Given the description of an element on the screen output the (x, y) to click on. 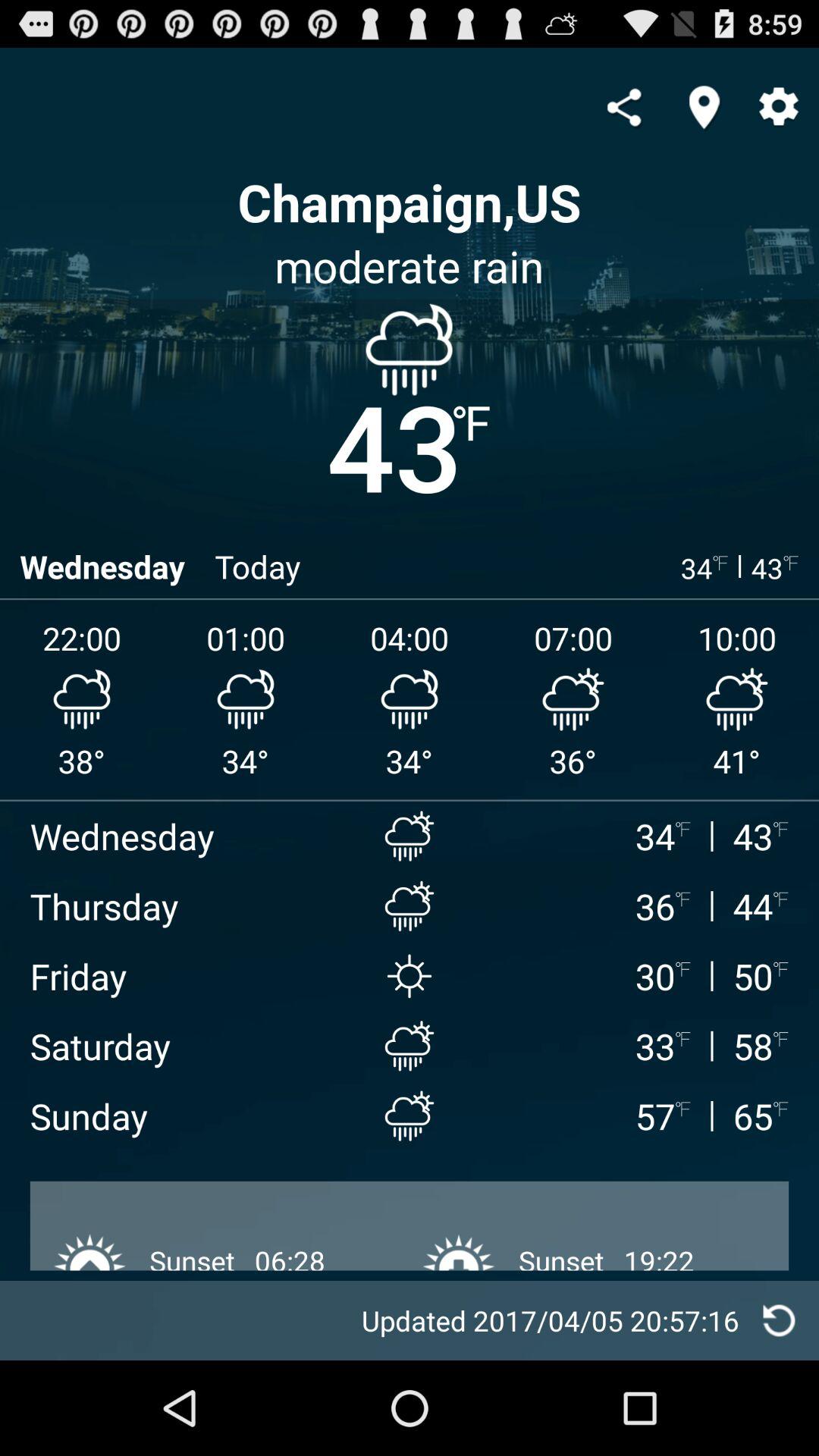
search button (704, 107)
